Given the description of an element on the screen output the (x, y) to click on. 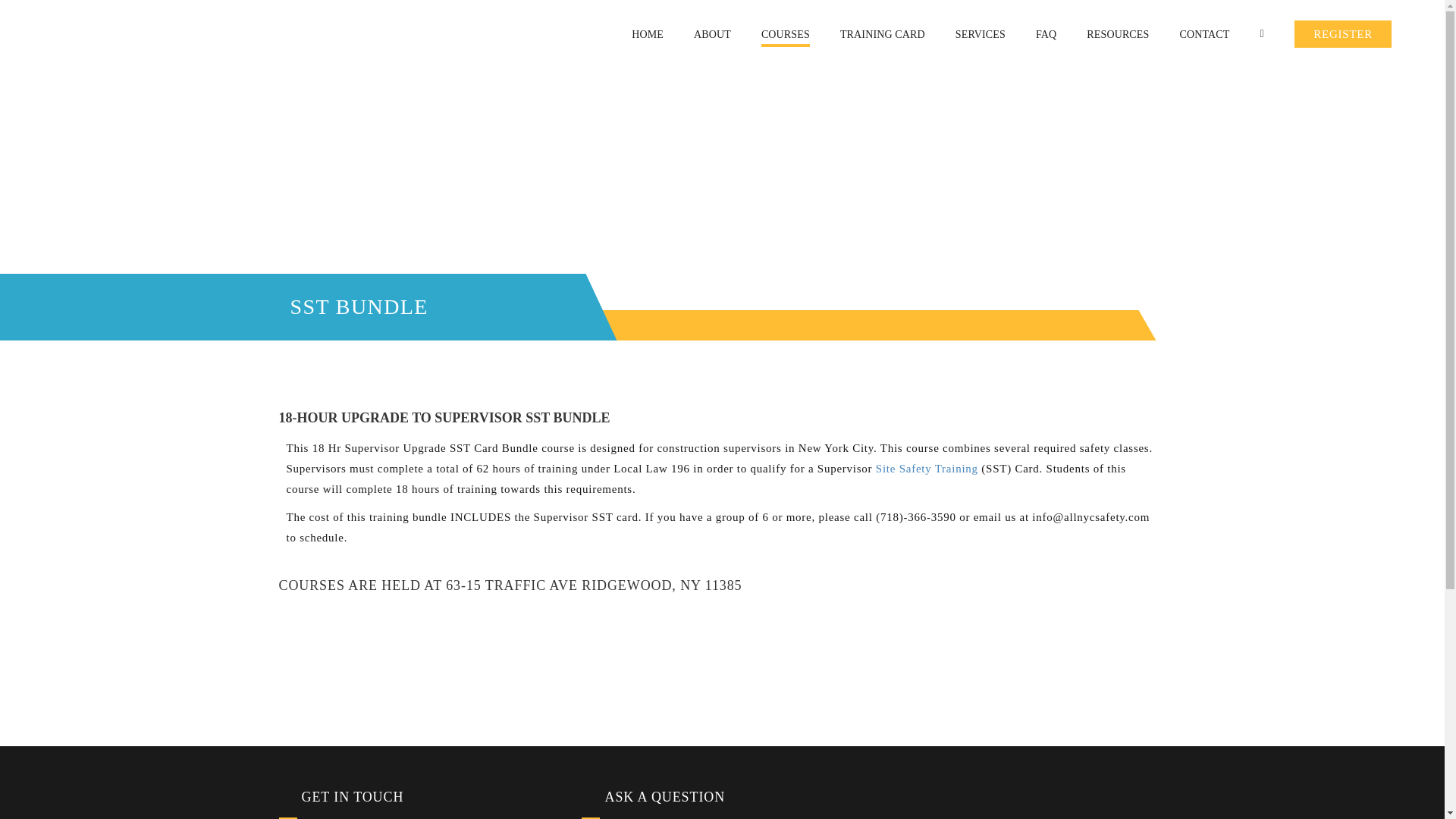
COURSES (785, 34)
HOME (647, 34)
ABOUT (712, 34)
